Given the description of an element on the screen output the (x, y) to click on. 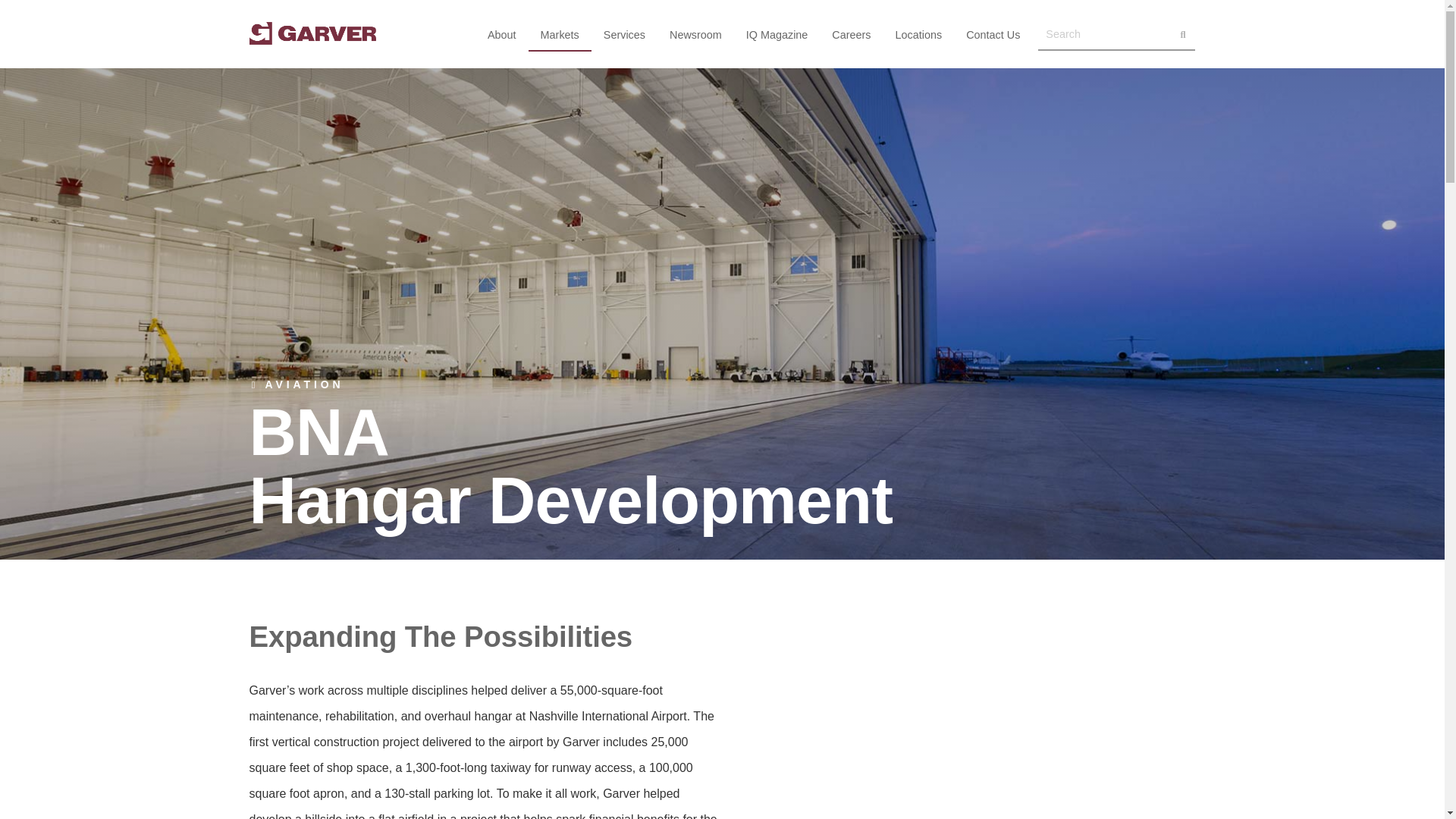
Careers (850, 35)
About (502, 35)
IQ Magazine (777, 35)
Markets (559, 35)
AVIATION (295, 386)
Services (624, 35)
Newsroom (695, 35)
Contact Us (992, 35)
Locations (919, 35)
